Given the description of an element on the screen output the (x, y) to click on. 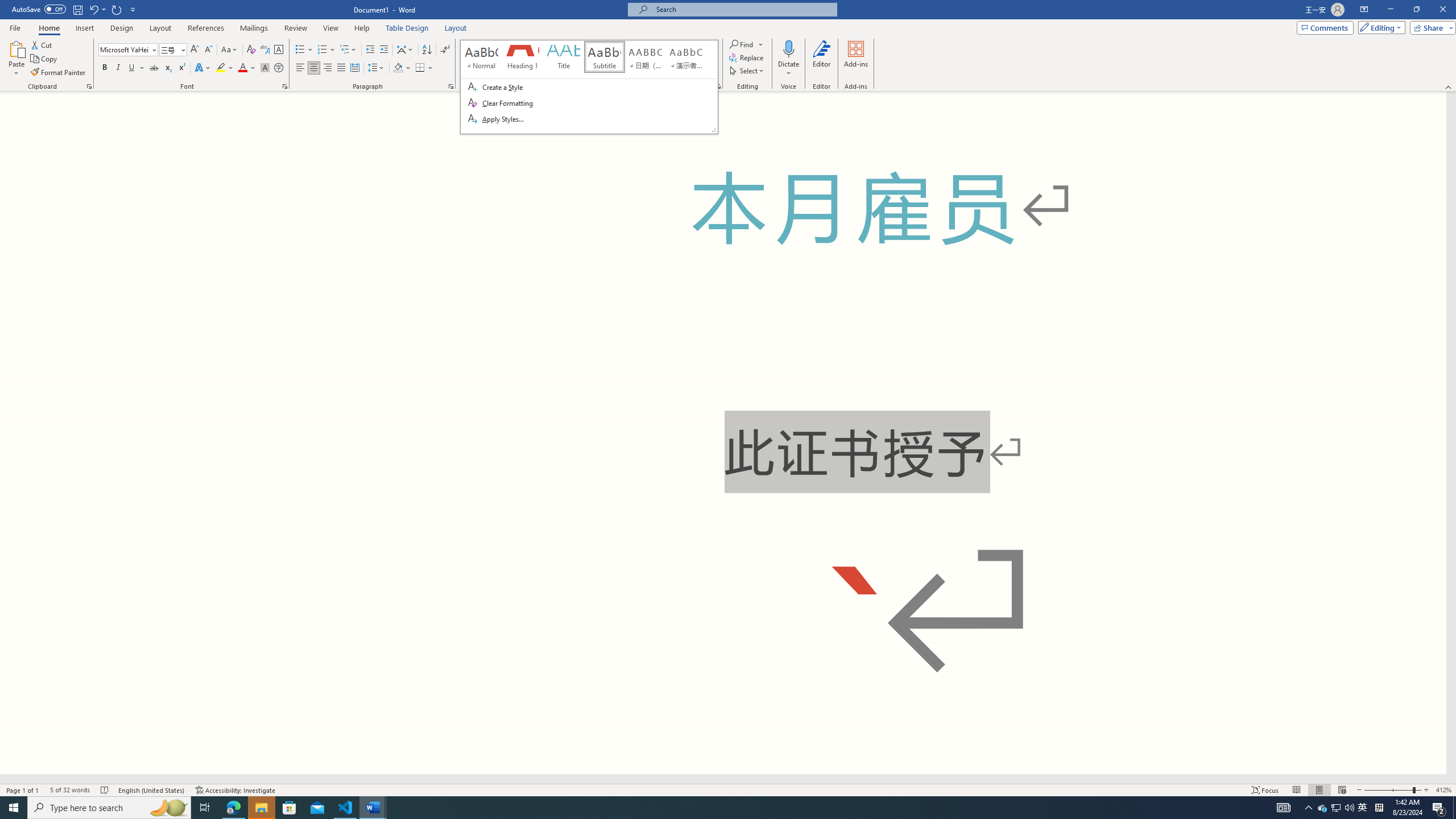
Editing (1379, 27)
